Given the description of an element on the screen output the (x, y) to click on. 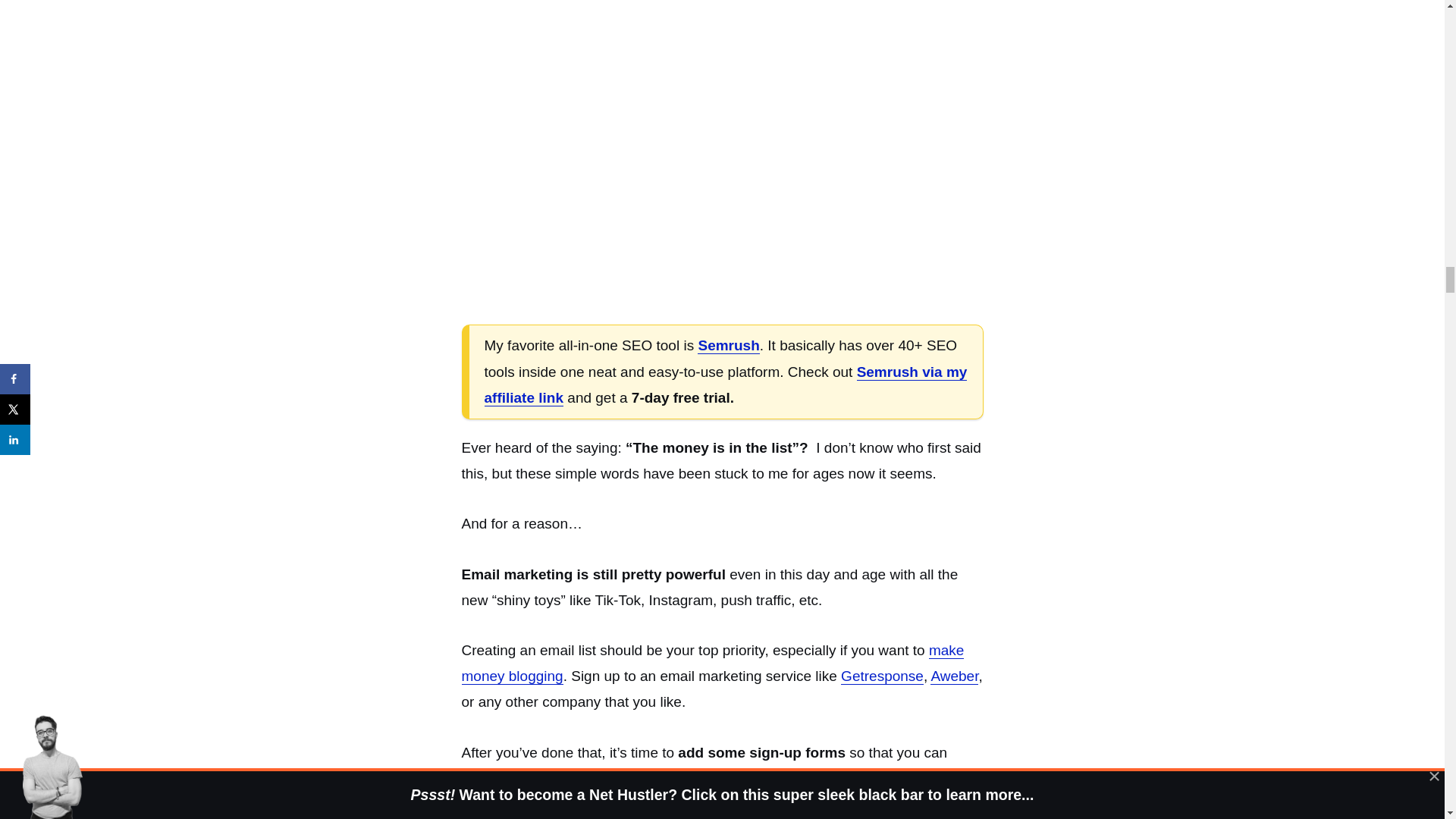
Aweber (954, 676)
Getresponse (882, 676)
make money blogging (712, 663)
Semrush (727, 345)
Semrush via my affiliate link (724, 384)
